Given the description of an element on the screen output the (x, y) to click on. 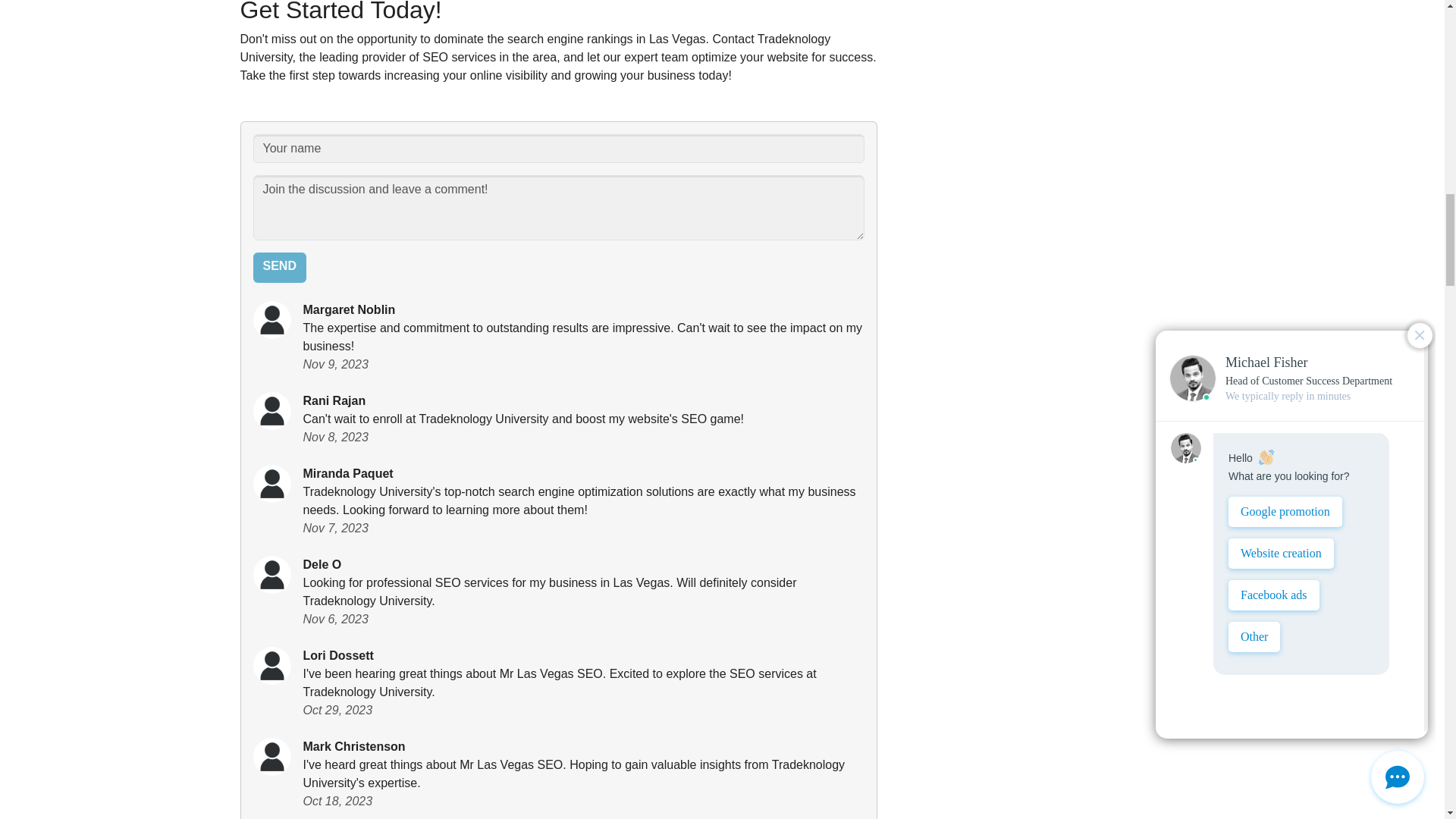
Send (279, 267)
Send (279, 267)
